Given the description of an element on the screen output the (x, y) to click on. 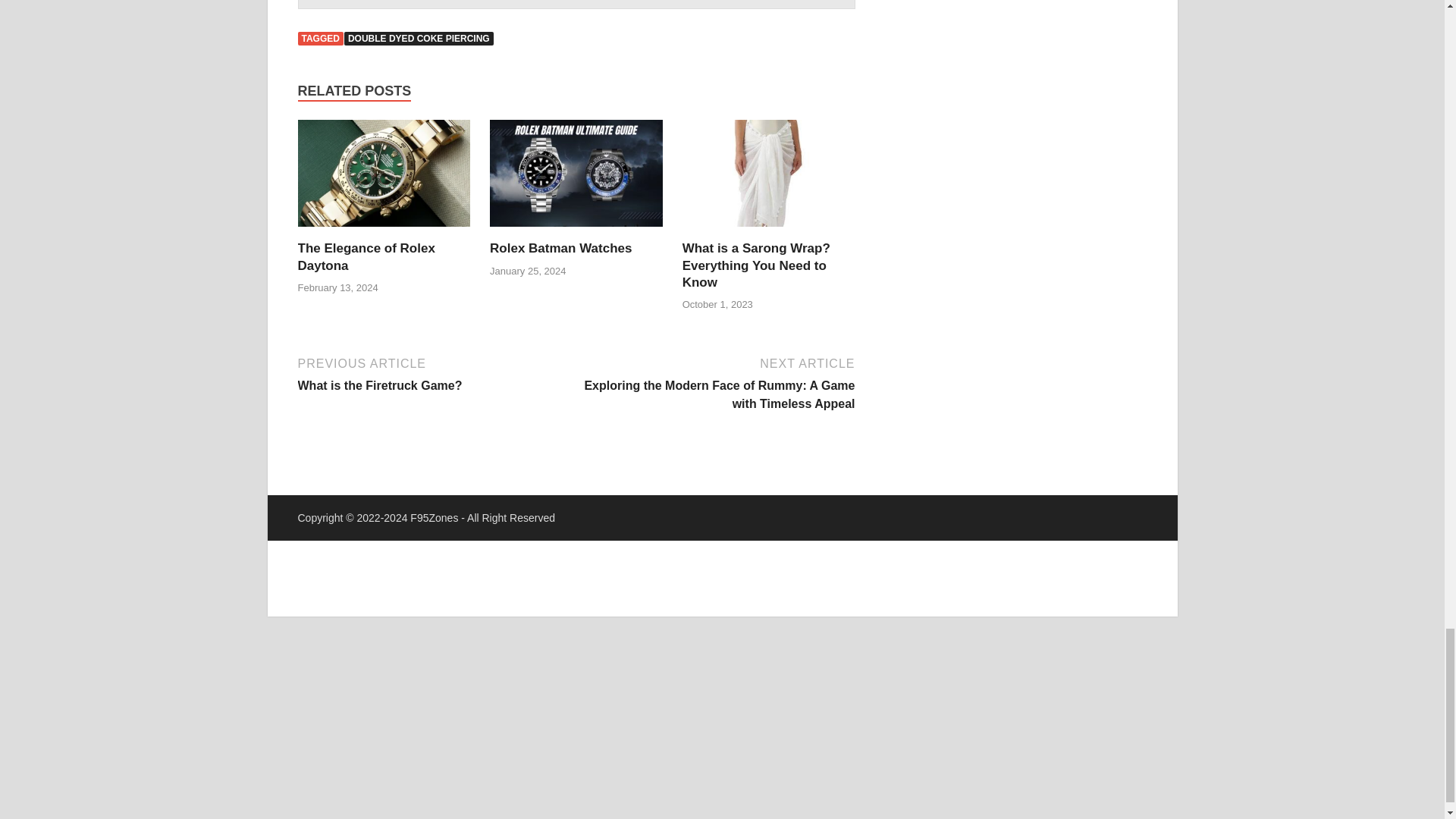
Rolex Batman Watches (560, 247)
The Elegance of Rolex Daytona (383, 230)
What is a Sarong Wrap? Everything You Need to Know (755, 264)
Rolex Batman Watches (575, 230)
What is a Sarong Wrap? Everything You Need to Know (769, 230)
The Elegance of Rolex Daytona (365, 255)
